Given the description of an element on the screen output the (x, y) to click on. 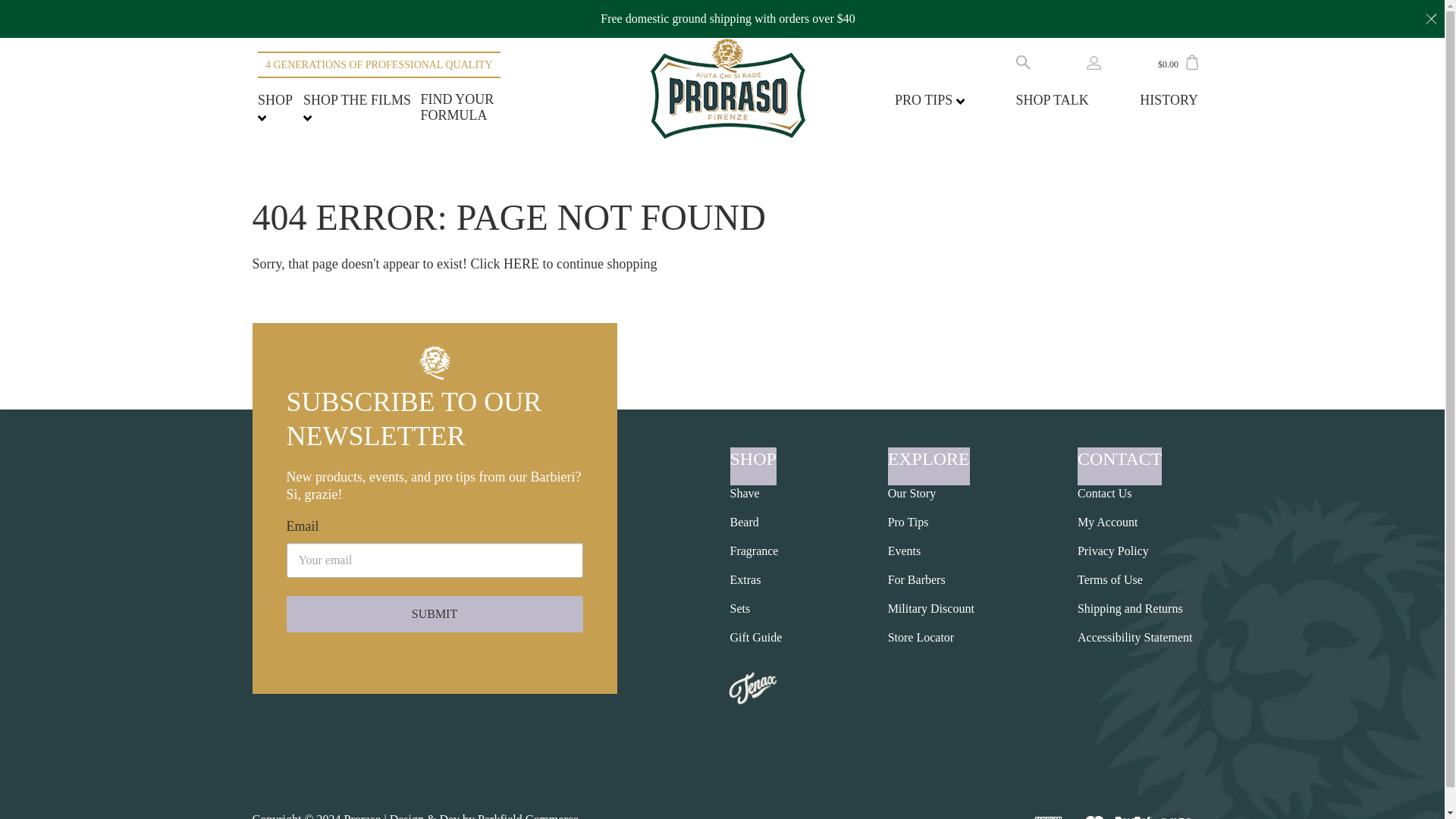
SHOP (274, 108)
ACCOUNT (1094, 62)
SHOP THE FILMS (356, 108)
Proraso USA (727, 87)
ACCOUNT (1094, 64)
Cart (1192, 62)
Search (1023, 61)
